Given the description of an element on the screen output the (x, y) to click on. 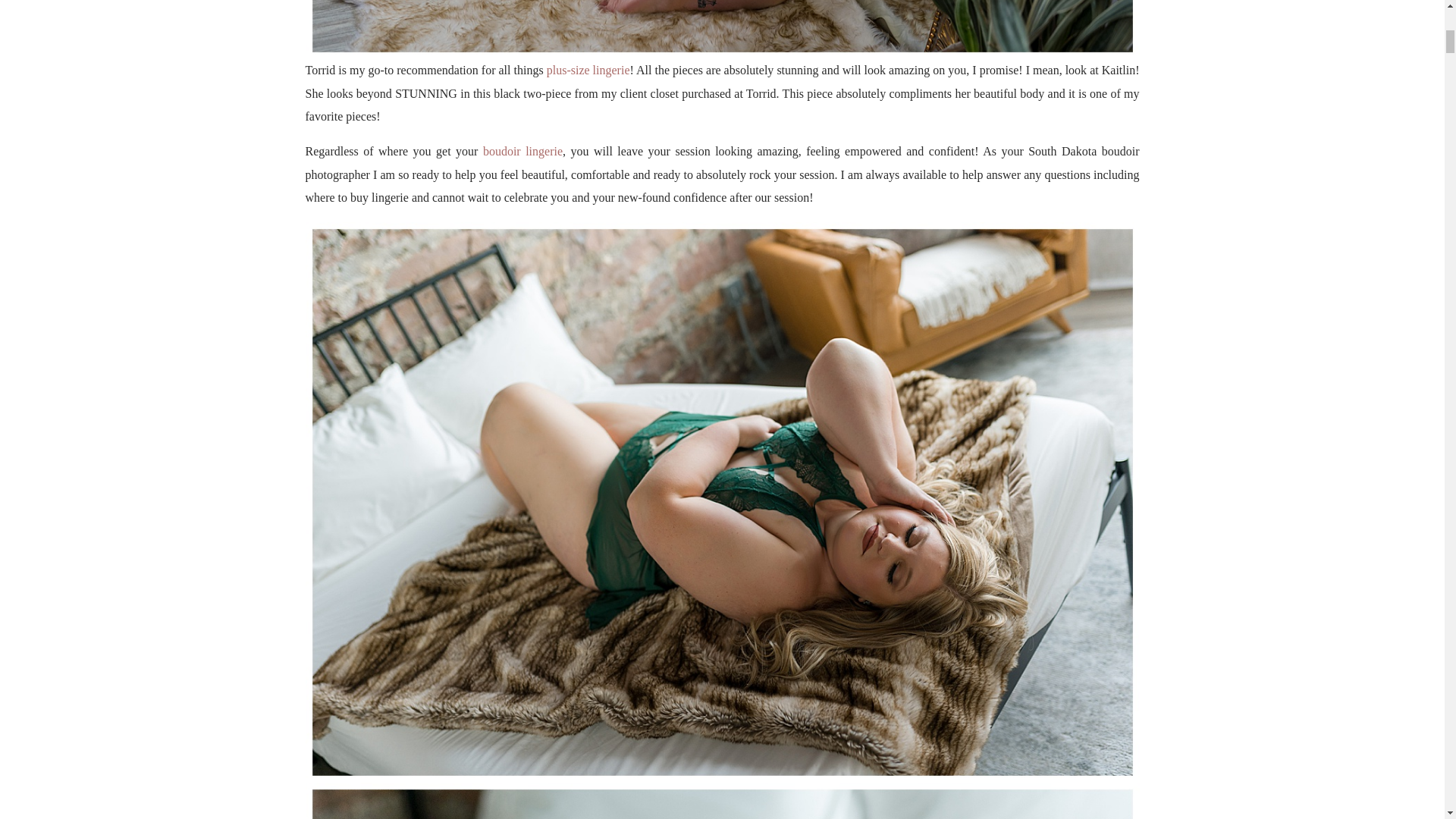
plus-size lingerie (588, 69)
boudoir lingerie (522, 151)
